Given the description of an element on the screen output the (x, y) to click on. 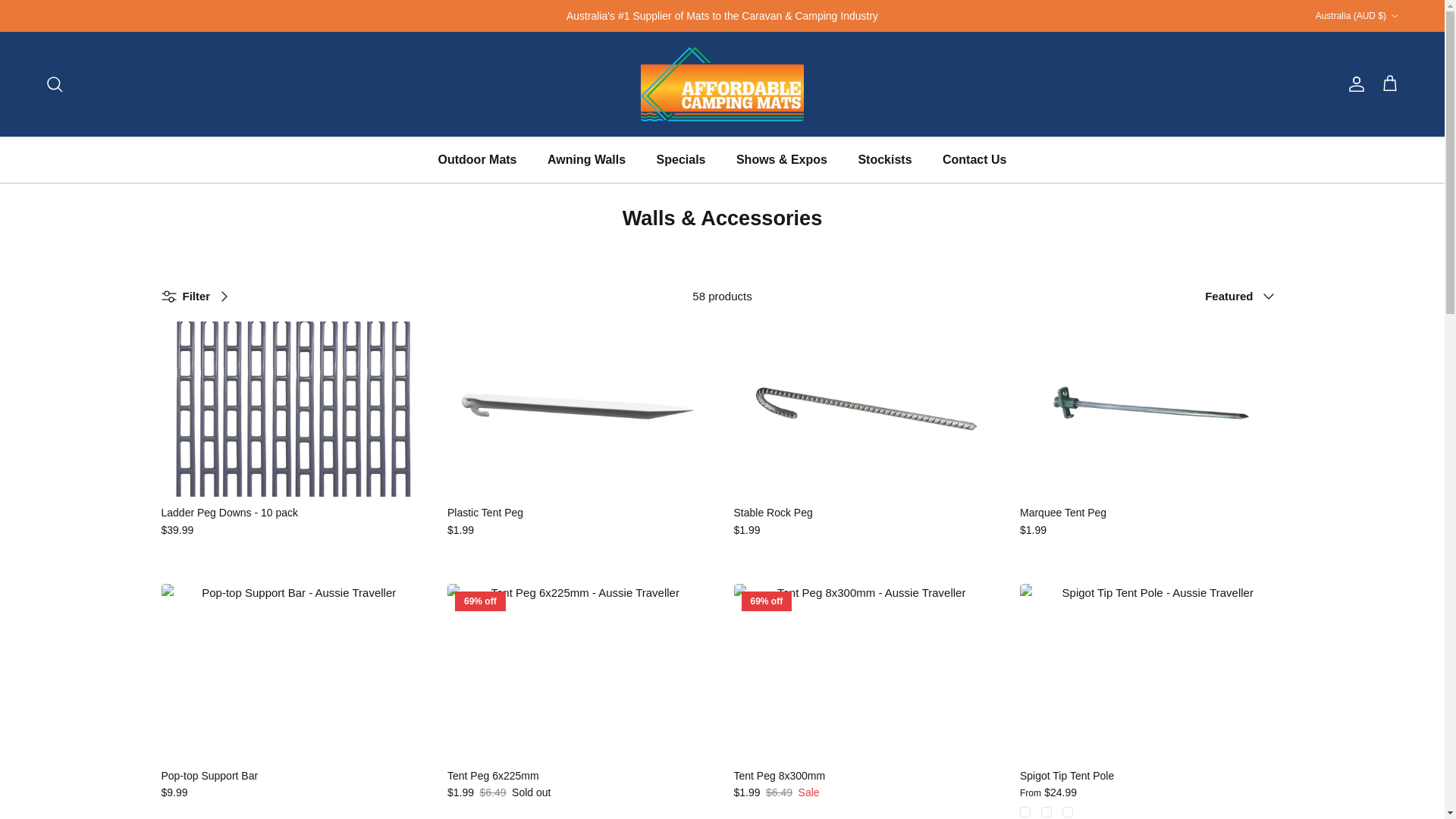
Affordable Camping Mats (721, 83)
Outdoor Mats (478, 159)
Search (54, 84)
Awning Walls (586, 159)
Account (1352, 84)
Specials (681, 159)
Cart (1389, 84)
